Given the description of an element on the screen output the (x, y) to click on. 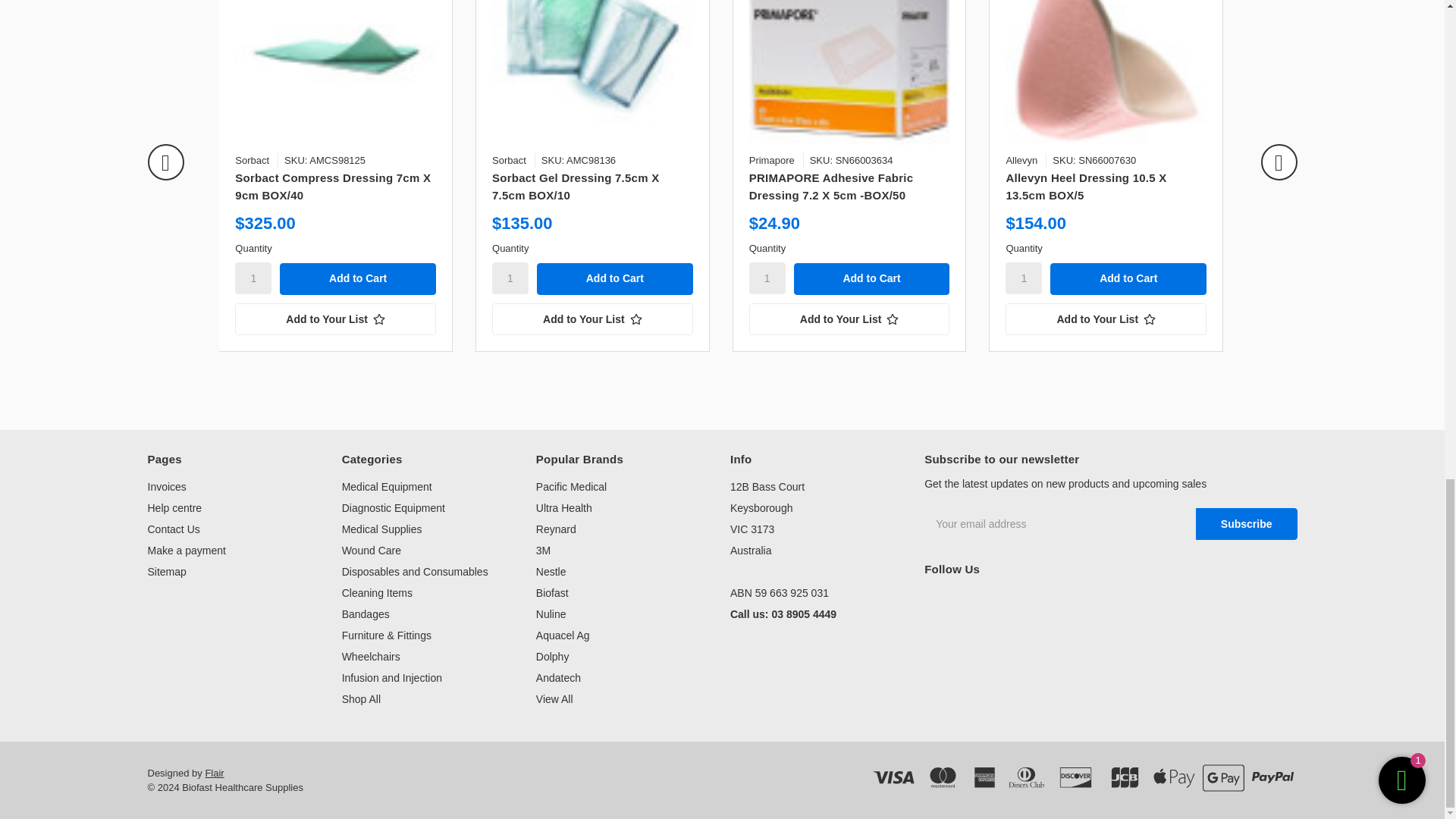
Add to Cart (1128, 278)
1 (1024, 278)
1 (510, 278)
Subscribe (1246, 523)
1 (767, 278)
Add to Your List (849, 318)
Add to Your List (592, 318)
Add to Cart (615, 278)
1 (252, 278)
Add to Cart (871, 278)
